Given the description of an element on the screen output the (x, y) to click on. 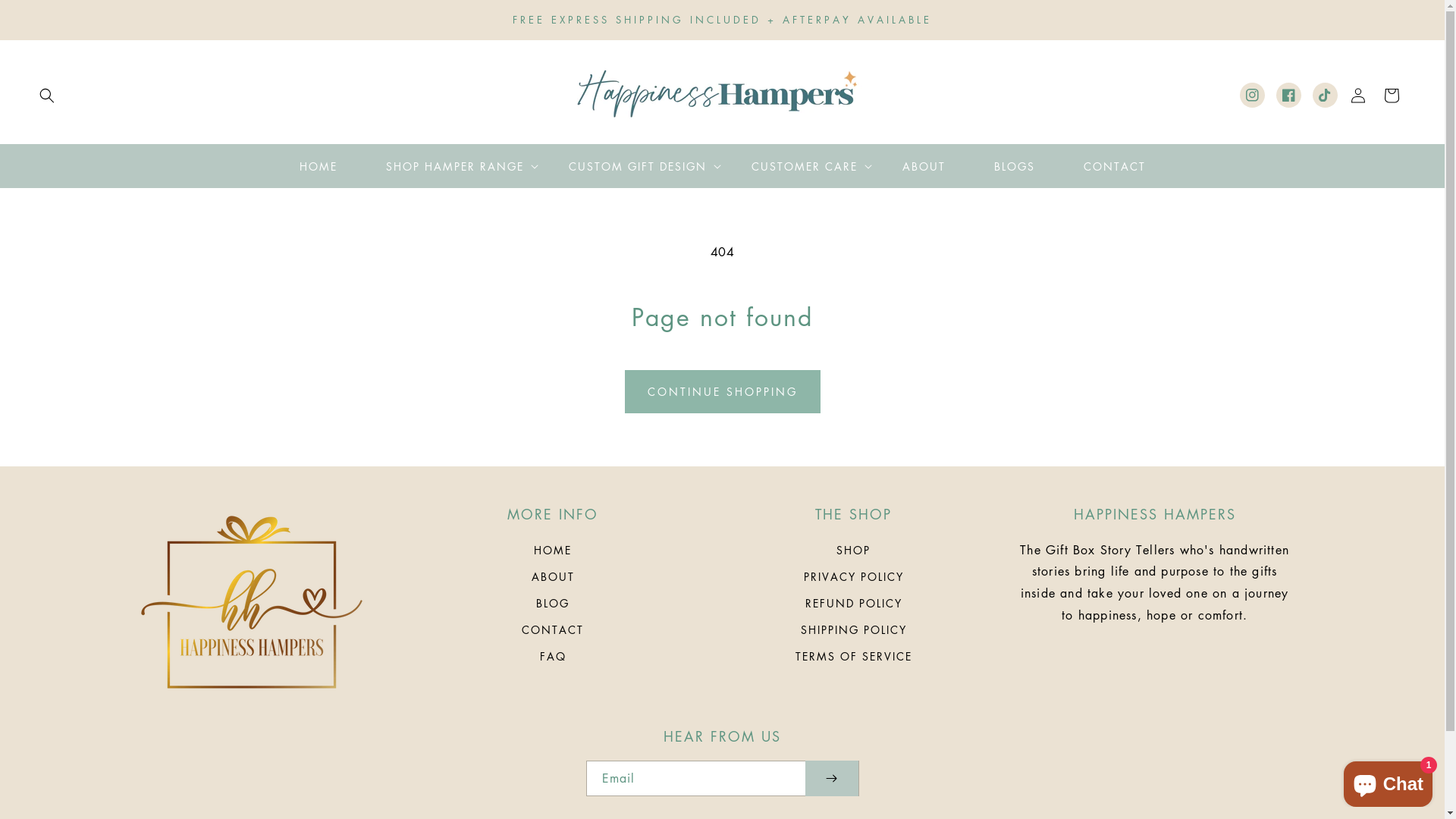
Log in Element type: text (1357, 95)
CONTINUE SHOPPING Element type: text (722, 391)
BLOG Element type: text (552, 602)
REFUND POLICY Element type: text (853, 602)
SHOP Element type: text (853, 551)
BLOGS Element type: text (1013, 166)
CONTACT Element type: text (1113, 166)
SHIPPING POLICY Element type: text (853, 629)
CONTACT Element type: text (552, 629)
TERMS OF SERVICE Element type: text (853, 656)
Instagram Element type: text (1251, 94)
PRIVACY POLICY Element type: text (853, 576)
ABOUT Element type: text (923, 166)
Cart Element type: text (1391, 95)
HOME Element type: text (317, 166)
Shopify online store chat Element type: hover (1388, 780)
HOME Element type: text (552, 551)
ABOUT Element type: text (552, 576)
TikTok Element type: text (1324, 94)
FAQ Element type: text (552, 656)
Facebook Element type: text (1288, 94)
